Given the description of an element on the screen output the (x, y) to click on. 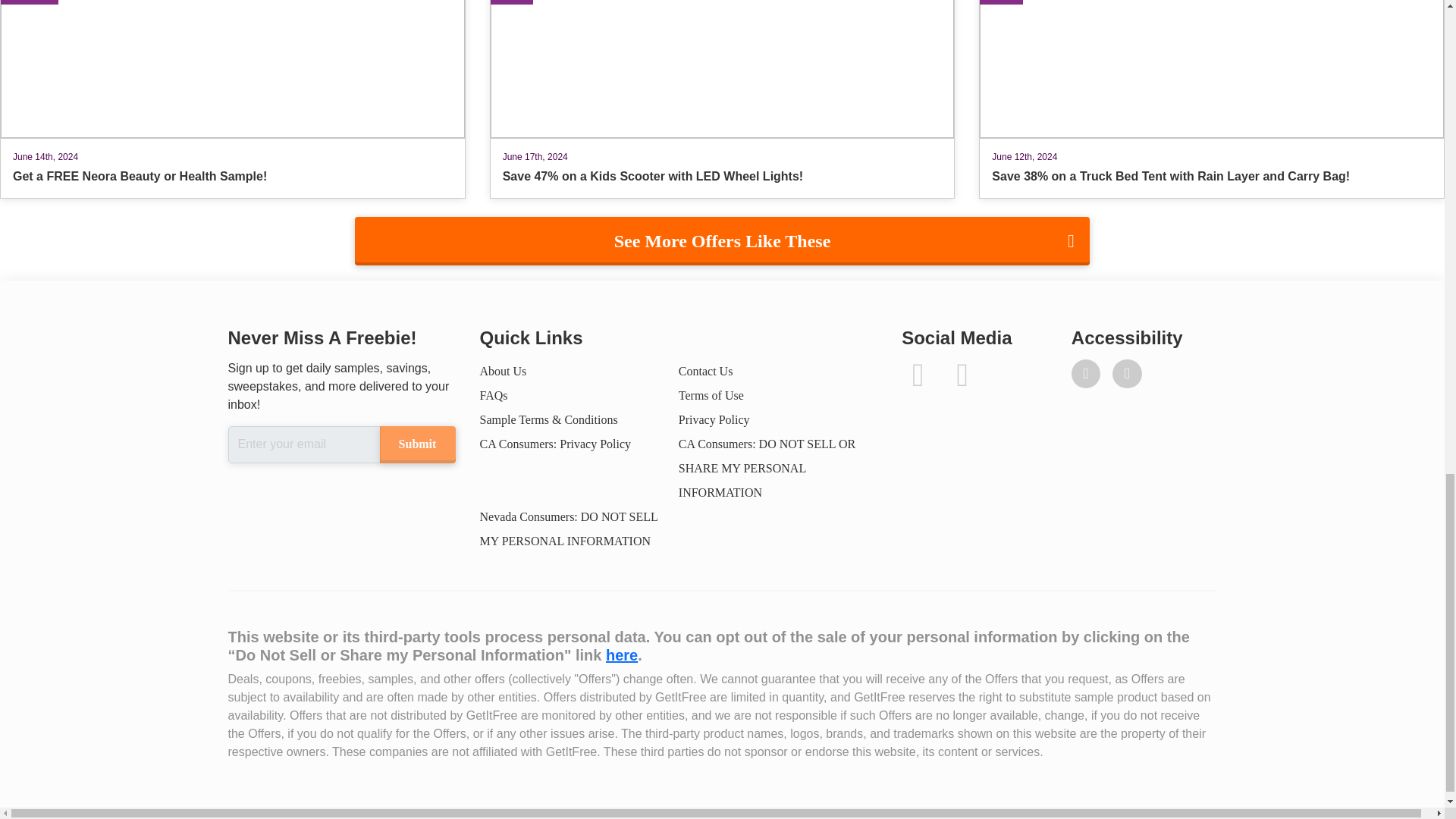
About Us (502, 370)
FAQs (492, 395)
Contact Us (705, 370)
here (621, 655)
Nevada Consumers: DO NOT SELL MY PERSONAL INFORMATION (568, 528)
CA Consumers: DO NOT SELL OR SHARE MY PERSONAL INFORMATION (767, 467)
Privacy Policy (713, 419)
Submit (416, 444)
CA Consumers: Privacy Policy (554, 443)
See More Offers Like These (722, 241)
